Given the description of an element on the screen output the (x, y) to click on. 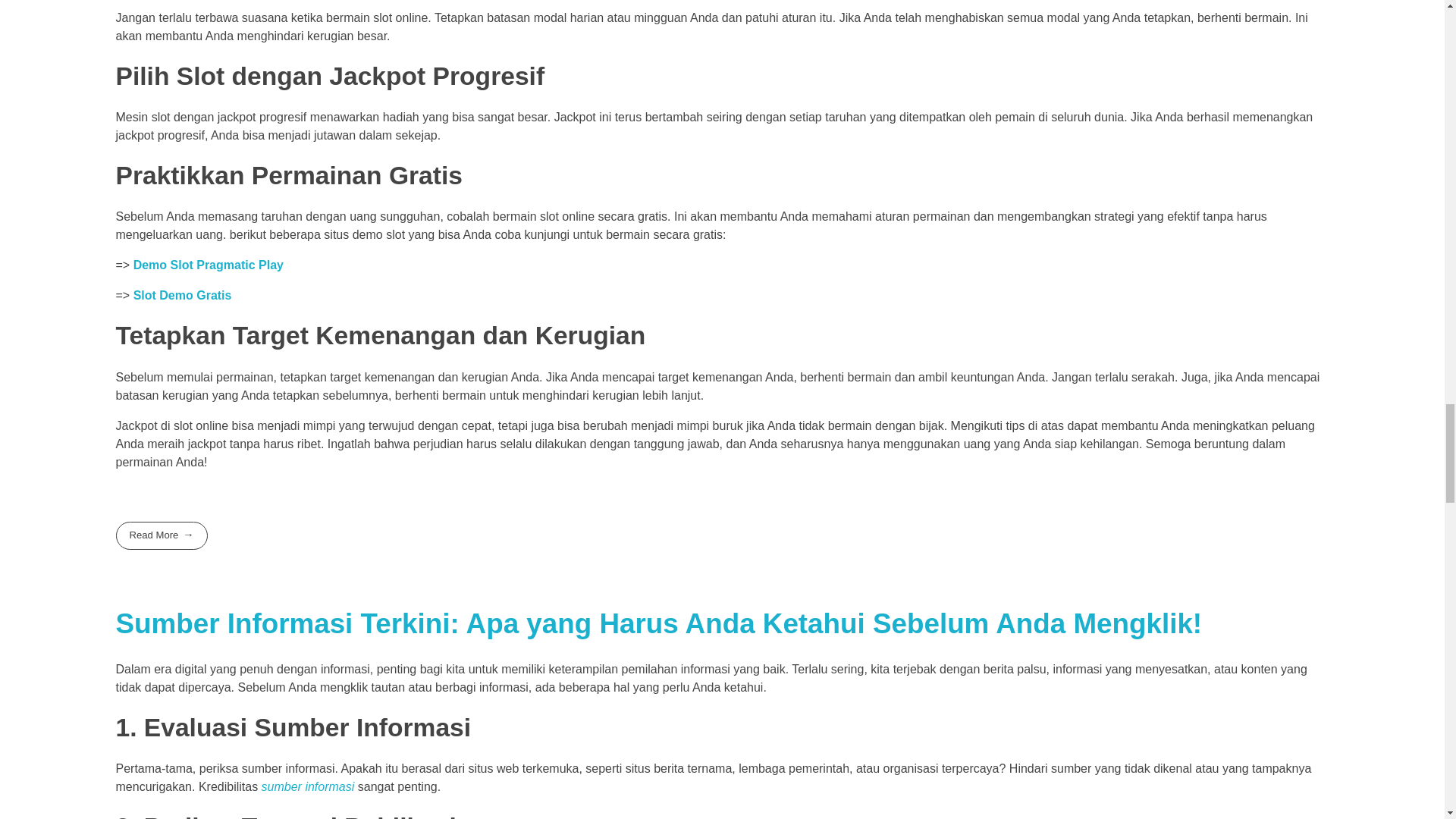
Slot Demo Gratis (182, 295)
Demo Slot Pragmatic Play (208, 264)
Read More (160, 535)
sumber informasi (308, 786)
